Given the description of an element on the screen output the (x, y) to click on. 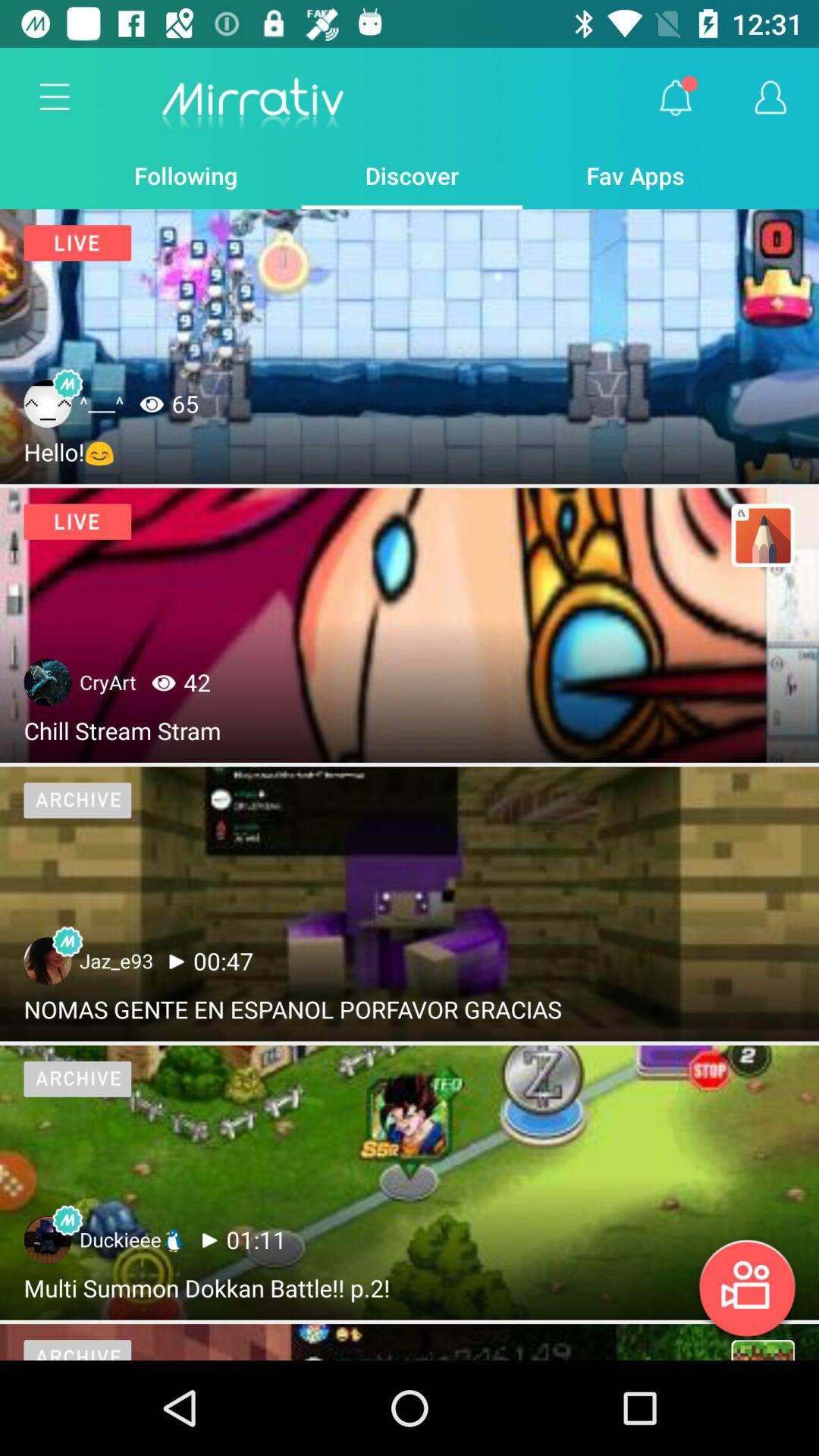
improper tagging (763, 1349)
